Given the description of an element on the screen output the (x, y) to click on. 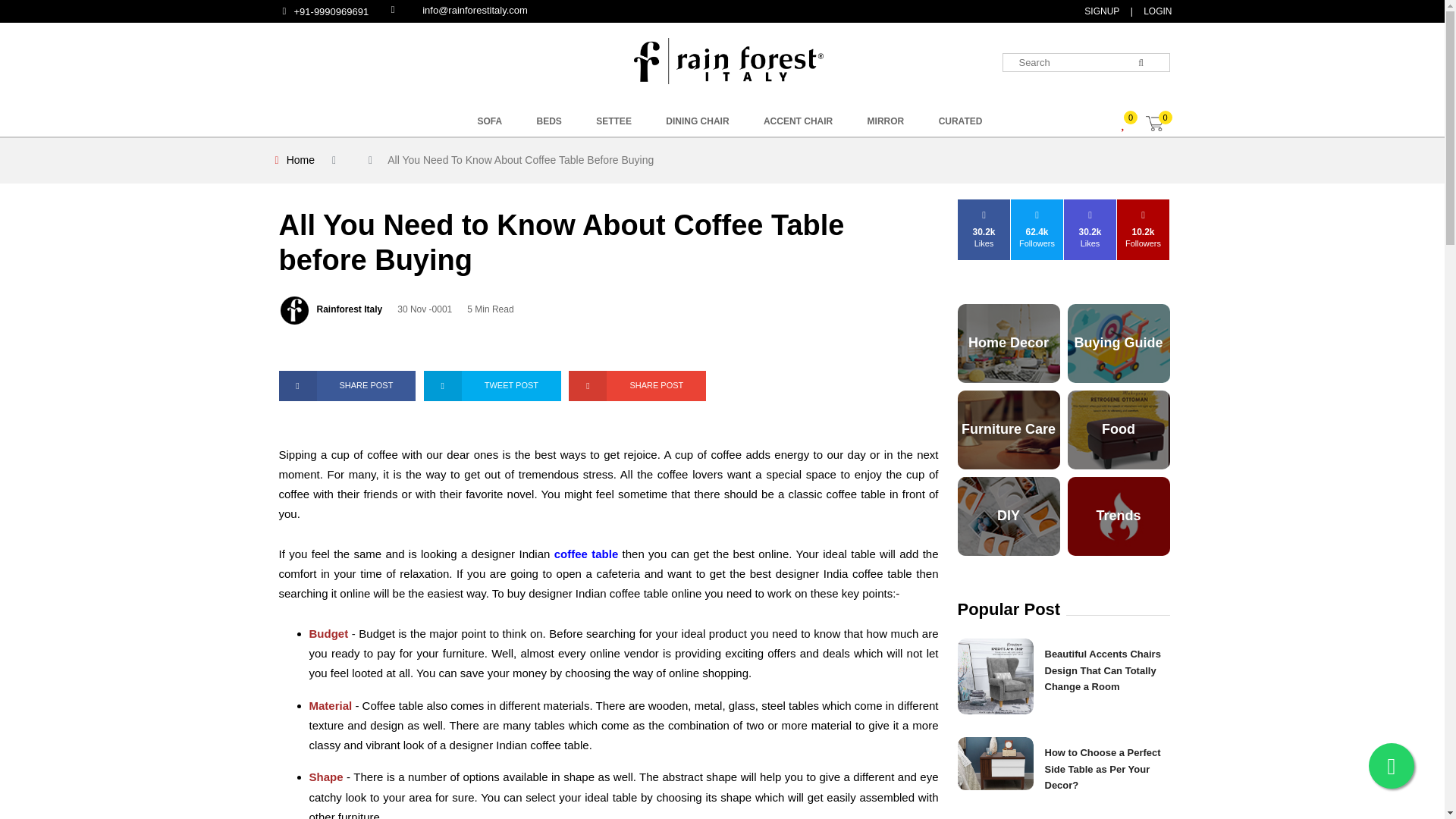
0 (1160, 124)
Your Store (728, 60)
SOFA (489, 121)
BEDS (549, 121)
LOGIN (914, 132)
DINING CHAIR (697, 121)
SHARE POST (347, 386)
coffee table (586, 553)
CURATED (960, 121)
SIGNUP (1099, 11)
MIRROR (885, 121)
Rainforest Italy (349, 308)
TWEET POST (491, 386)
LOGIN (1156, 11)
Home (300, 159)
